Given the description of an element on the screen output the (x, y) to click on. 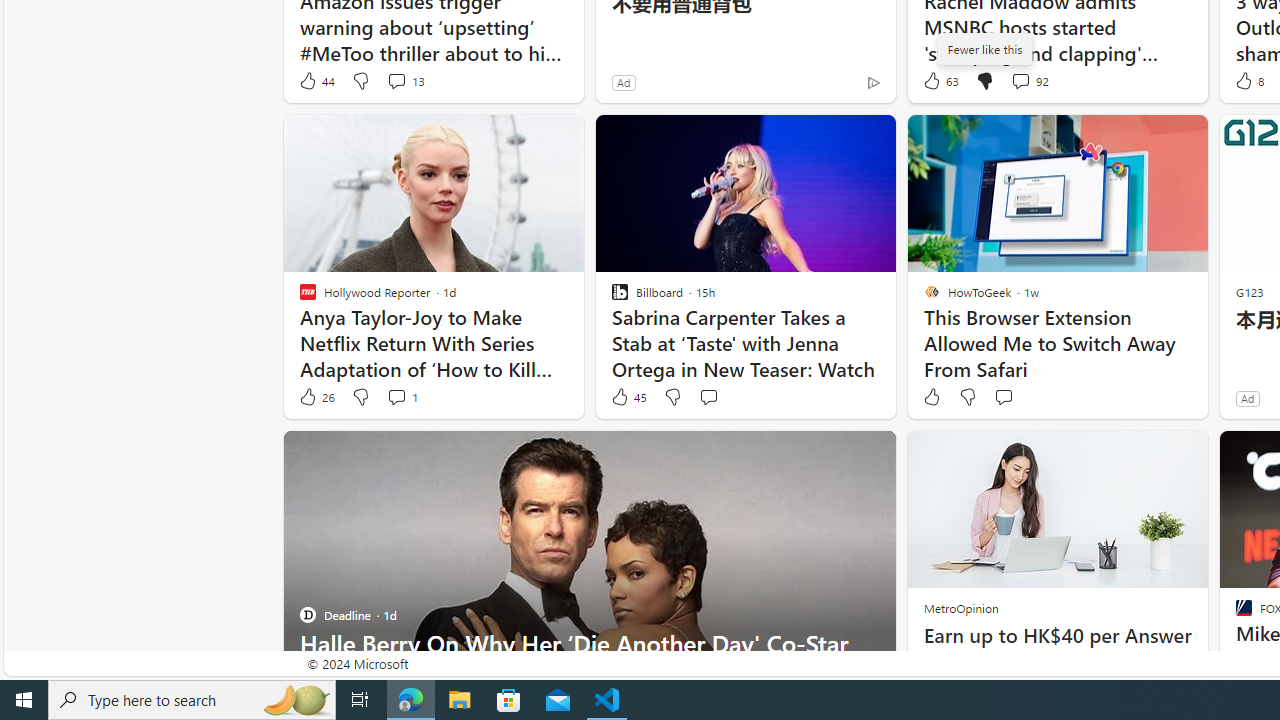
45 Like (628, 397)
Ad Choice (873, 82)
MetroOpinion (960, 607)
Like (930, 397)
26 Like (316, 397)
63 Like (939, 80)
View comments 1 Comment (401, 397)
Start the conversation (1003, 397)
View comments 1 Comment (396, 396)
View comments 13 Comment (396, 80)
View comments 92 Comment (1029, 80)
View comments 13 Comment (404, 80)
Ad (1247, 398)
Hide this story (835, 454)
